Given the description of an element on the screen output the (x, y) to click on. 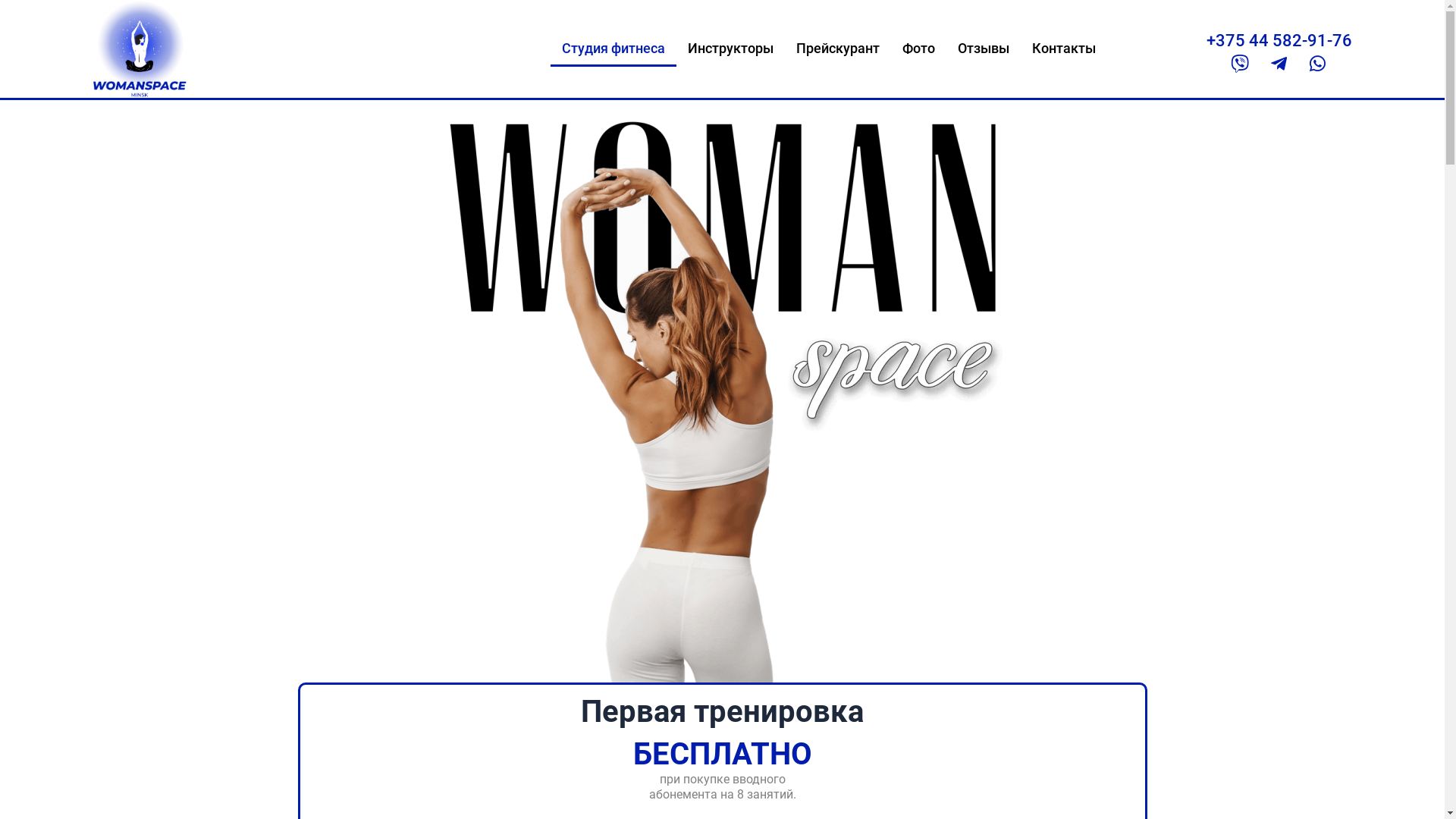
+375 44 582-91-76 Element type: text (1279, 40)
